Given the description of an element on the screen output the (x, y) to click on. 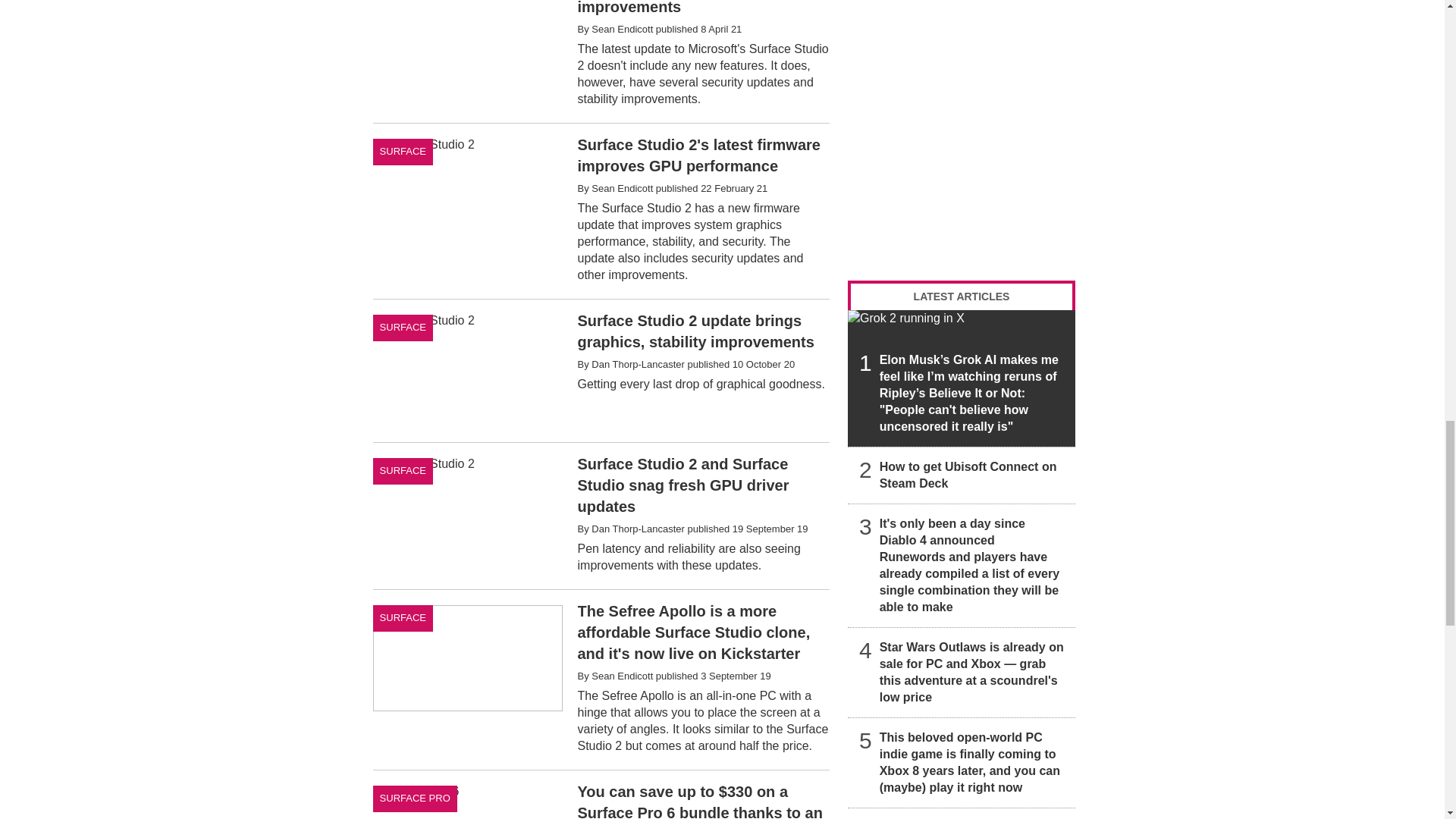
SURFACE (402, 151)
SURFACE (402, 327)
